Given the description of an element on the screen output the (x, y) to click on. 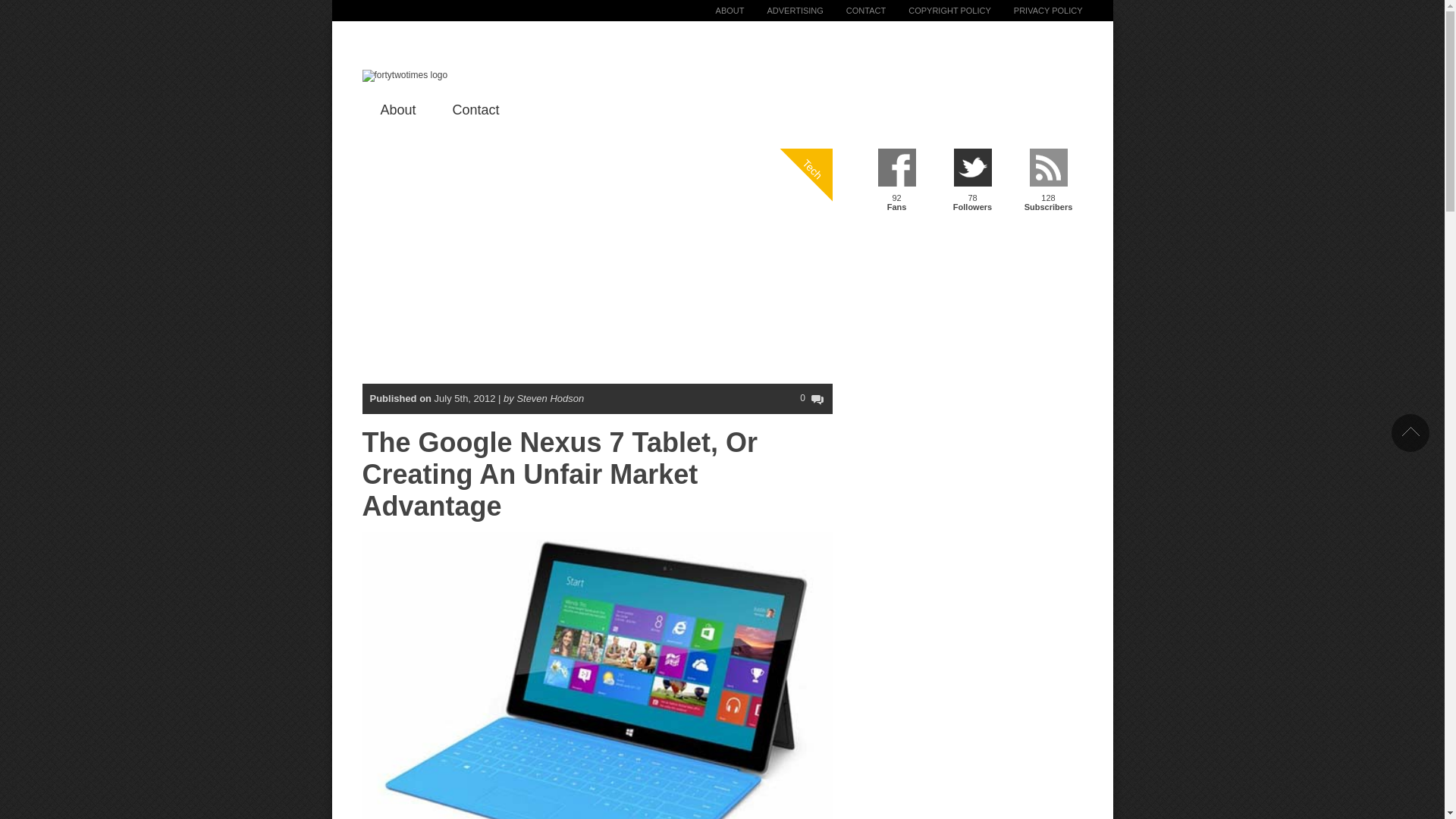
PRIVACY POLICY (1037, 10)
COPYRIGHT POLICY (938, 10)
Contact (475, 110)
Tech (828, 106)
CONTACT (854, 10)
ABOUT (718, 10)
About (397, 110)
ADVERTISING (783, 10)
